Given the description of an element on the screen output the (x, y) to click on. 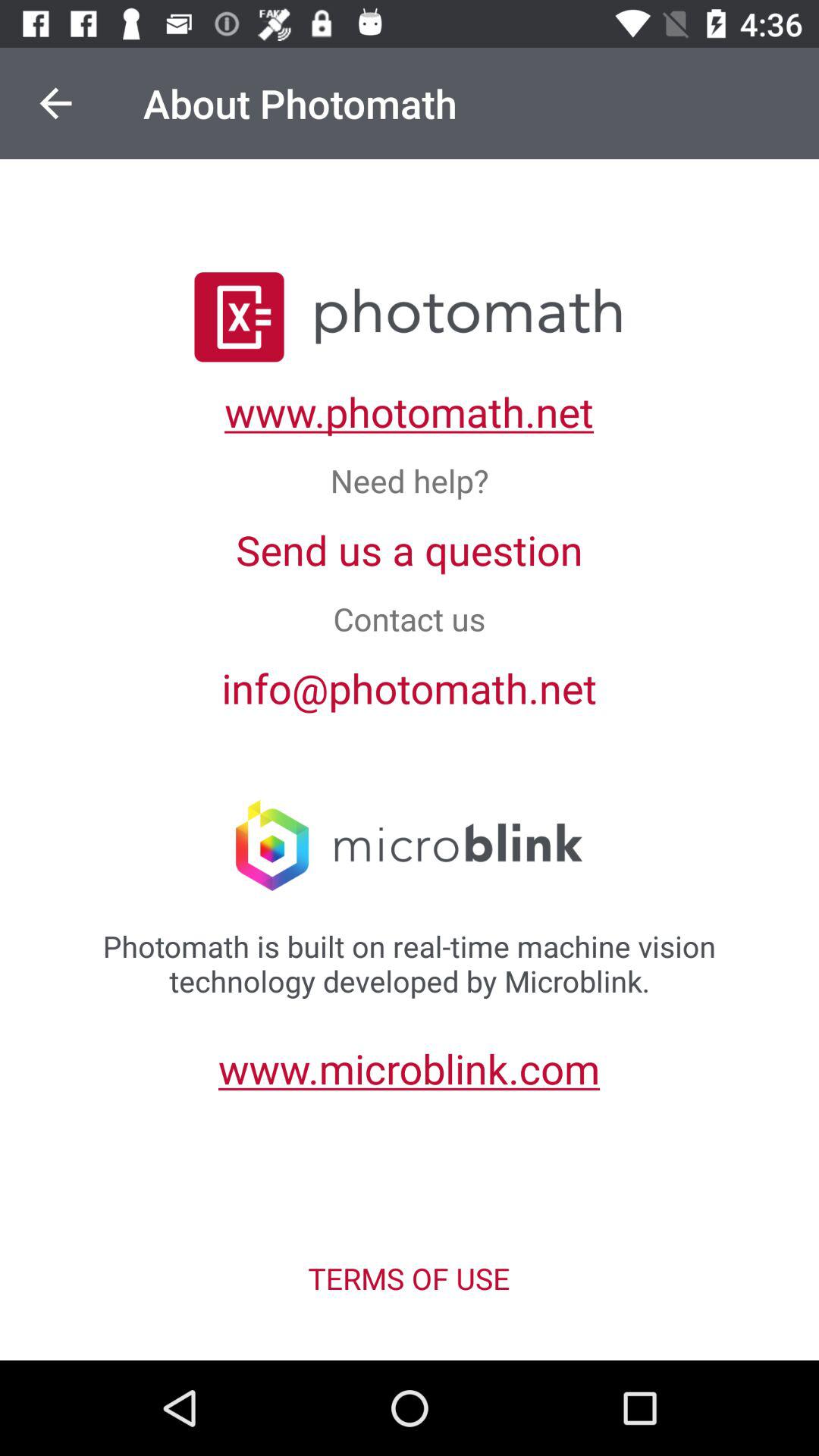
turn on icon to the left of about photomath item (55, 103)
